Given the description of an element on the screen output the (x, y) to click on. 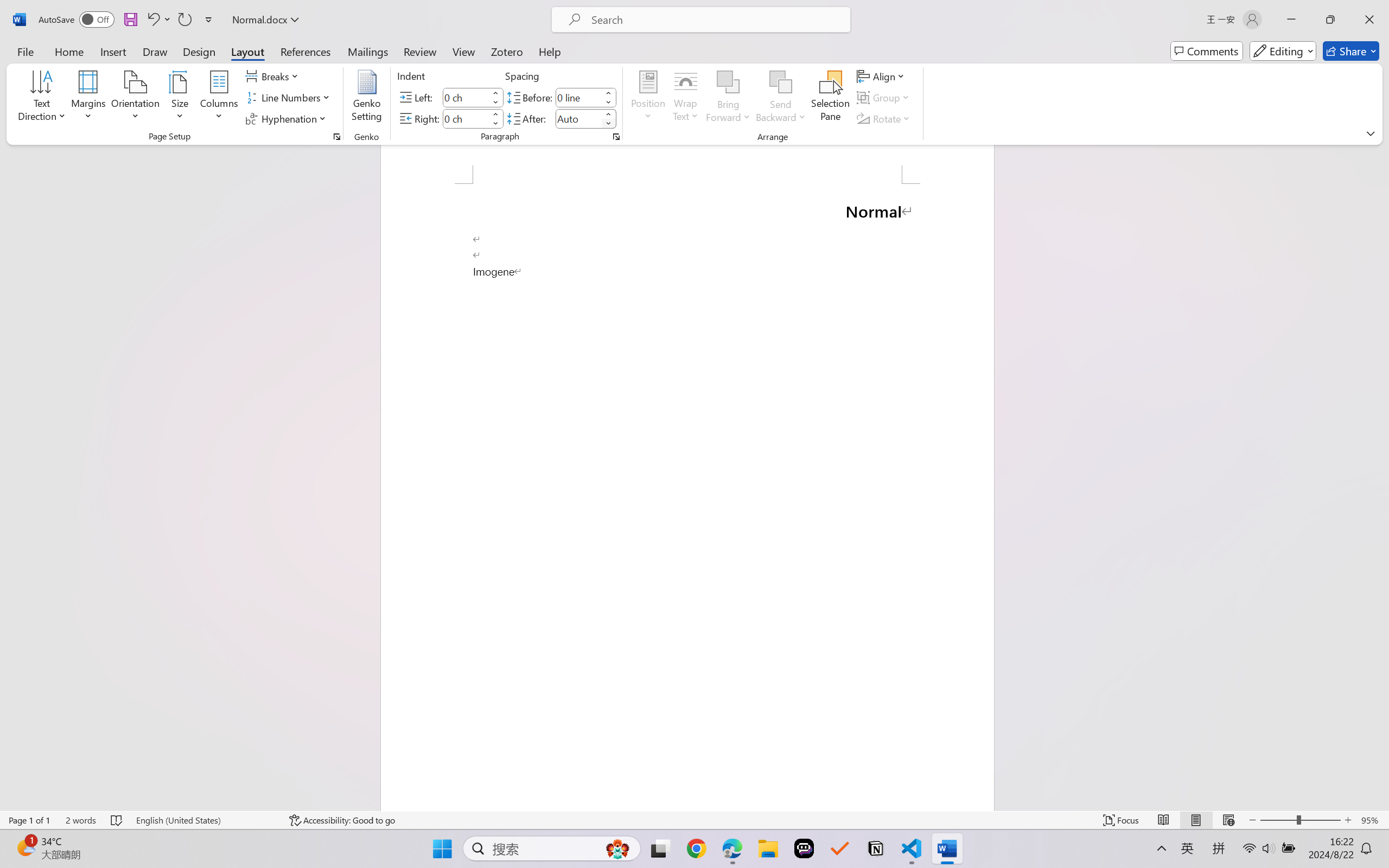
Spacing Before (578, 96)
Indent Right (465, 118)
Columns (219, 97)
Page 1 content (687, 497)
Less (608, 123)
Page Setup... (336, 136)
Repeat Paragraph Formatting (184, 19)
Send Backward (781, 81)
